Given the description of an element on the screen output the (x, y) to click on. 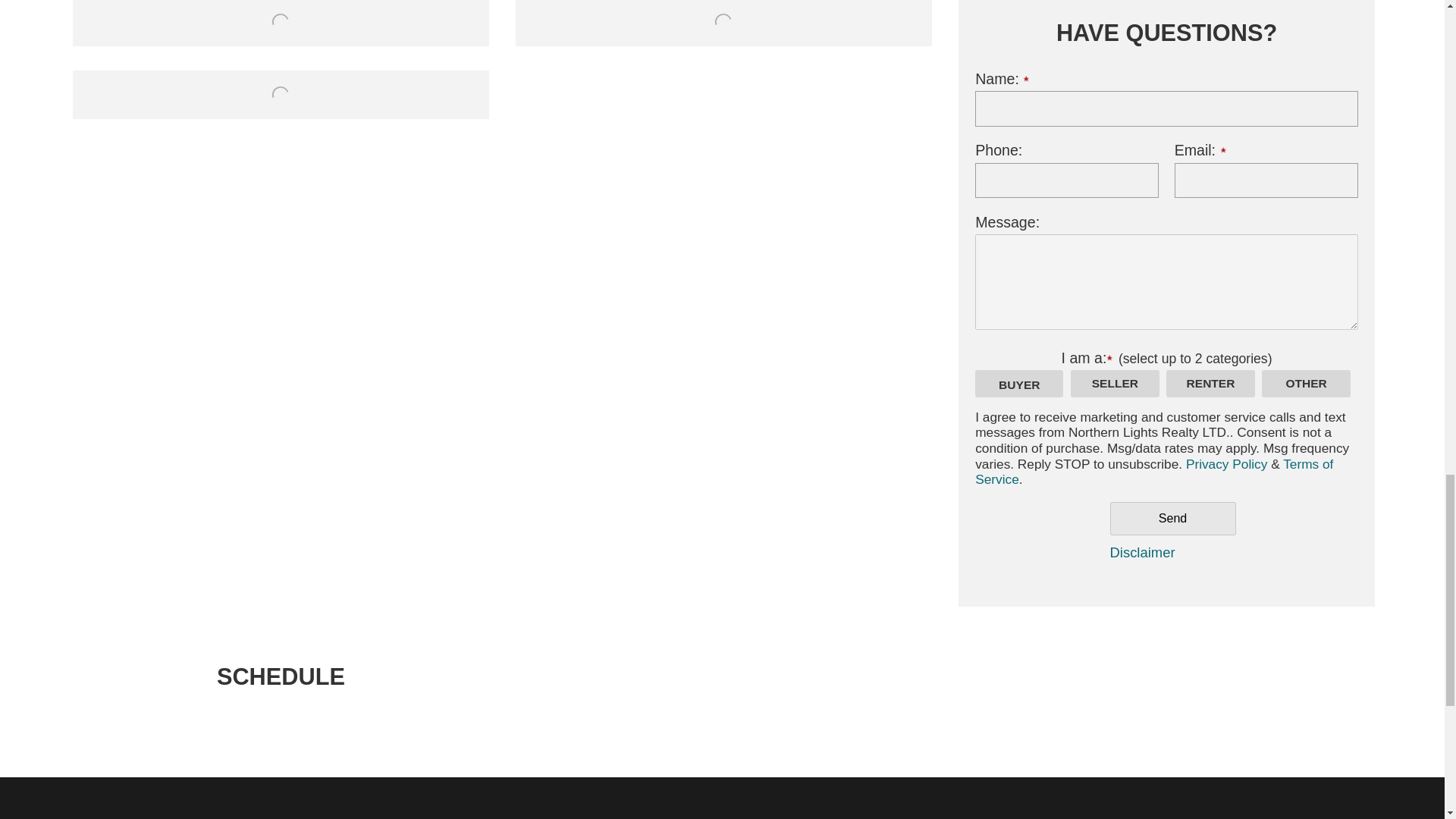
Terms of Service (1154, 471)
Disclaimer (1141, 552)
Send (1172, 518)
Privacy Policy (1224, 463)
Send (1172, 518)
